Given the description of an element on the screen output the (x, y) to click on. 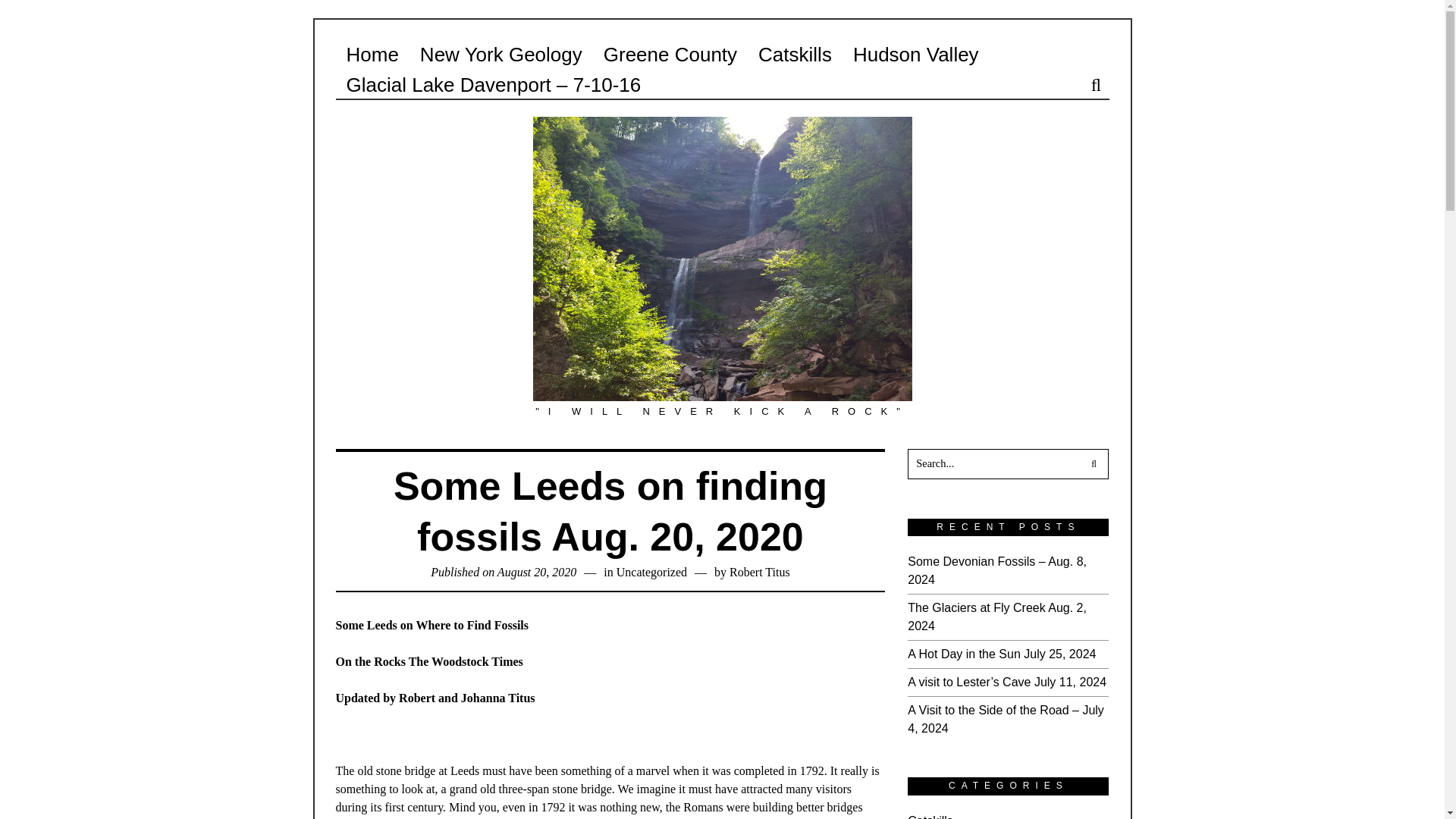
The Glaciers at Fly Creek Aug. 2, 2024 (996, 616)
Uncategorized (651, 571)
A Hot Day in the Sun July 25, 2024 (1001, 653)
Home (371, 54)
Greene County (670, 54)
New York Geology (500, 54)
Go (1093, 463)
Catskills (795, 54)
Catskills (930, 816)
Robert Titus (759, 571)
